Given the description of an element on the screen output the (x, y) to click on. 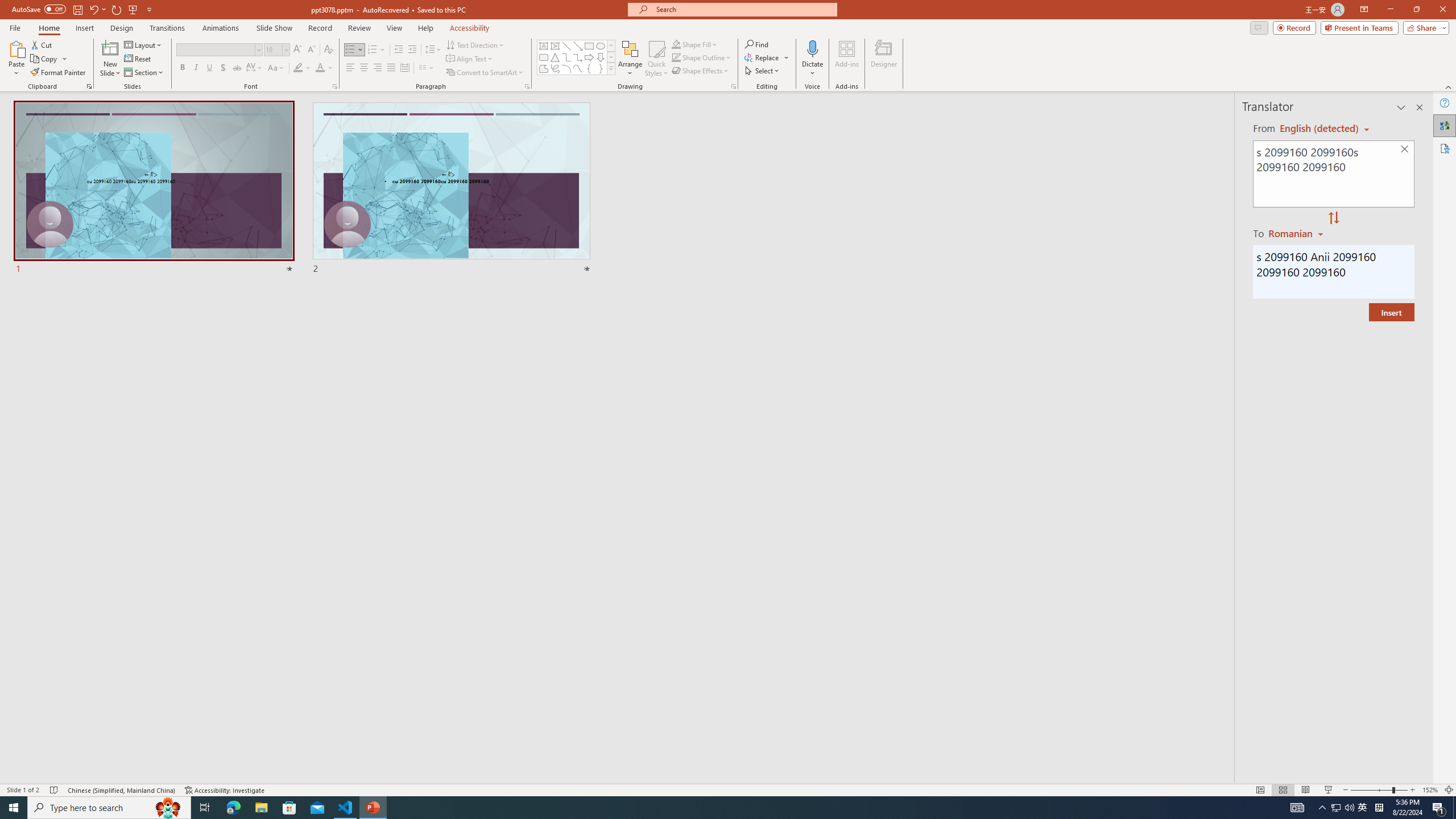
Format Painter (58, 72)
Right Brace (600, 68)
Arrow: Down (600, 57)
Shape Fill Dark Green, Accent 2 (675, 44)
Freeform: Scribble (554, 68)
Reset (138, 58)
Select (762, 69)
Decrease Indent (398, 49)
